Given the description of an element on the screen output the (x, y) to click on. 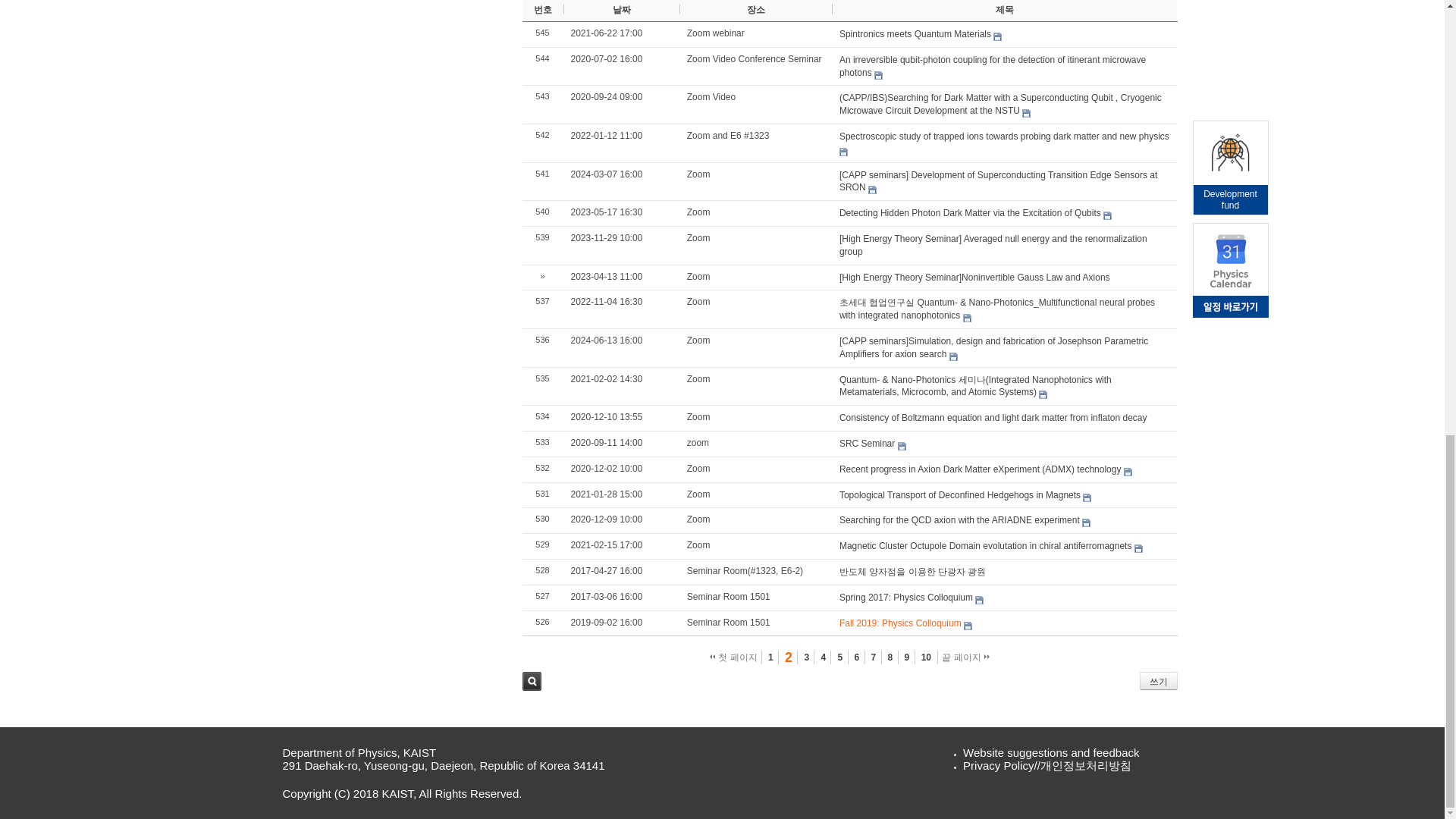
file (878, 75)
file (996, 36)
file (1128, 471)
file (967, 625)
file (1138, 548)
file (1086, 497)
file (979, 600)
file (1026, 112)
file (1085, 522)
file (871, 189)
file (1107, 215)
file (966, 317)
file (1042, 394)
file (953, 356)
file (843, 152)
